Given the description of an element on the screen output the (x, y) to click on. 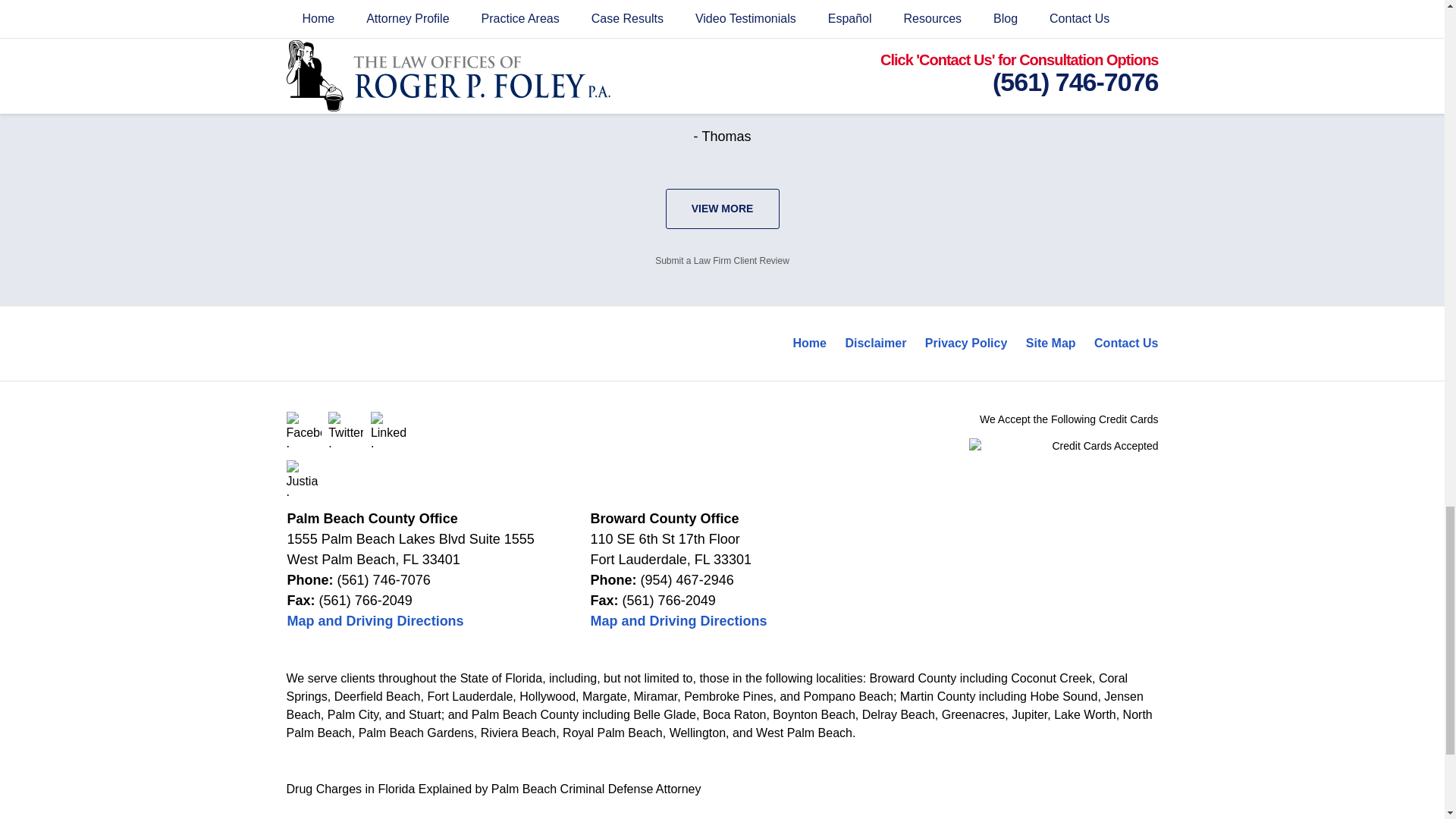
LinkedIn (388, 428)
Justia (303, 477)
Twitter (345, 428)
Facebook (303, 428)
